Given the description of an element on the screen output the (x, y) to click on. 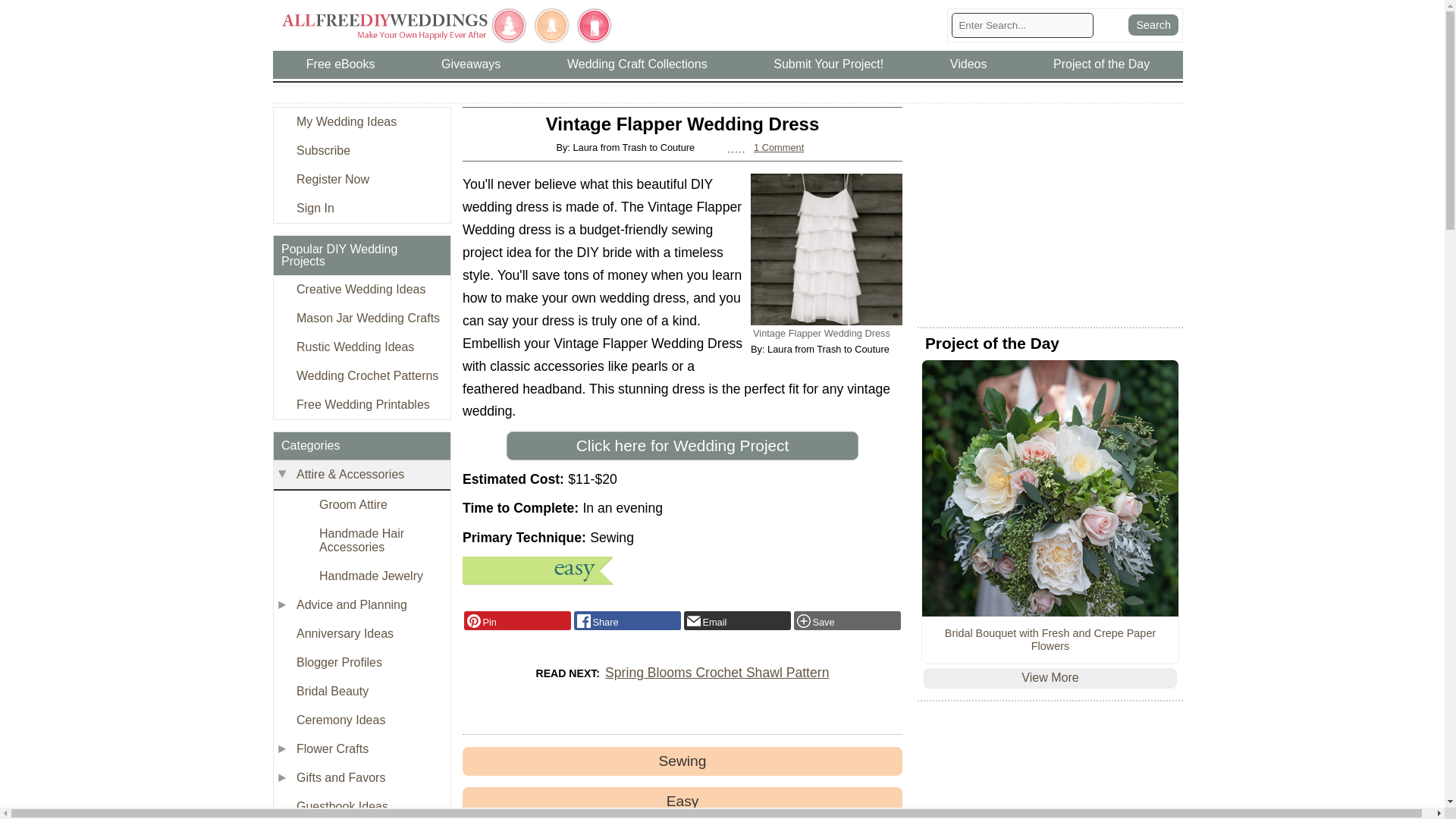
Add (847, 620)
Vintage Flapper Wedding Dress (826, 249)
Sign In (361, 208)
My Wedding Ideas (361, 121)
Subscribe (361, 150)
Email (737, 620)
Search (1152, 25)
Facebook (627, 620)
Register Now (361, 179)
